Given the description of an element on the screen output the (x, y) to click on. 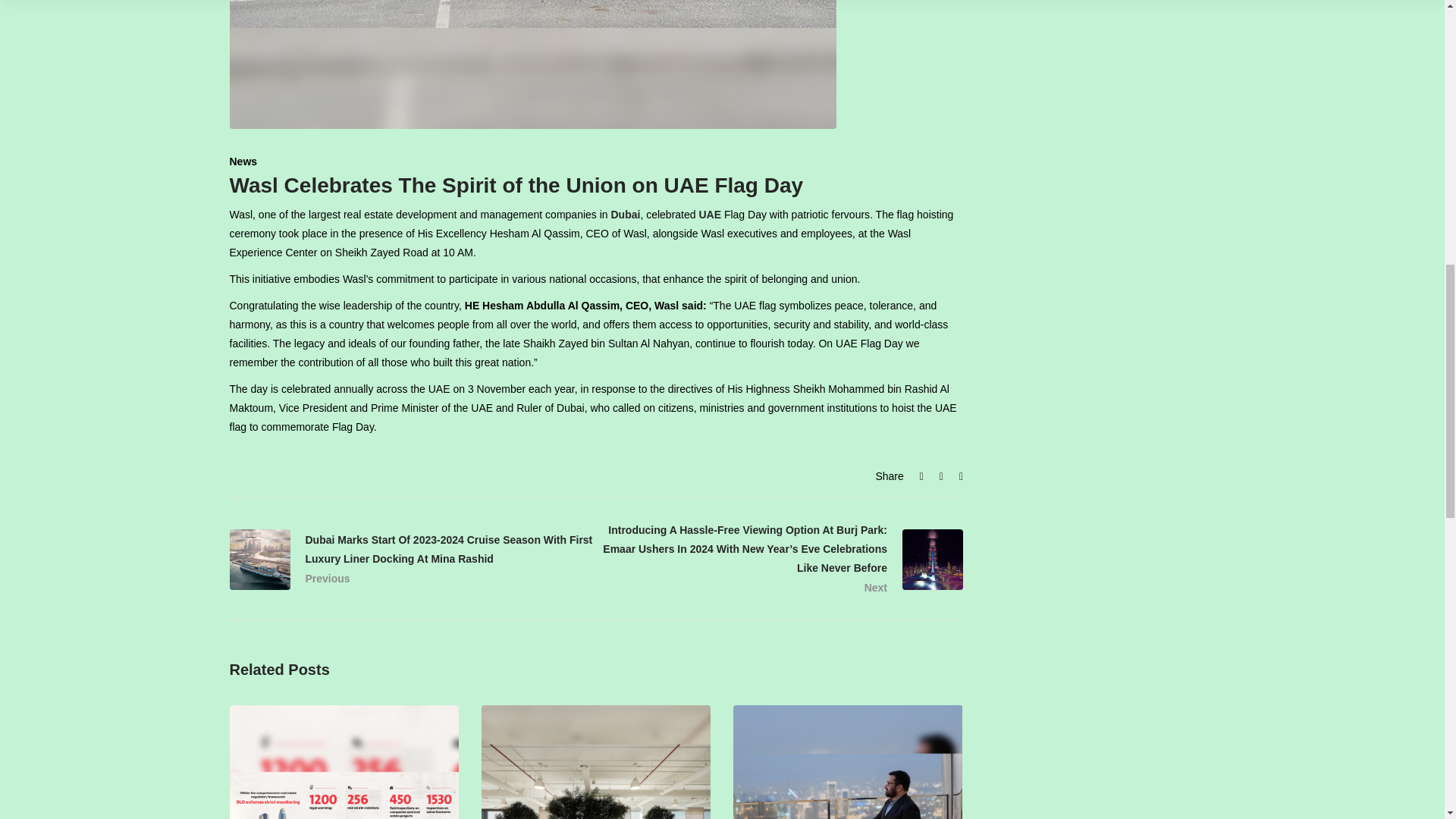
Dubai (625, 214)
News (242, 161)
UAE (709, 214)
